Given the description of an element on the screen output the (x, y) to click on. 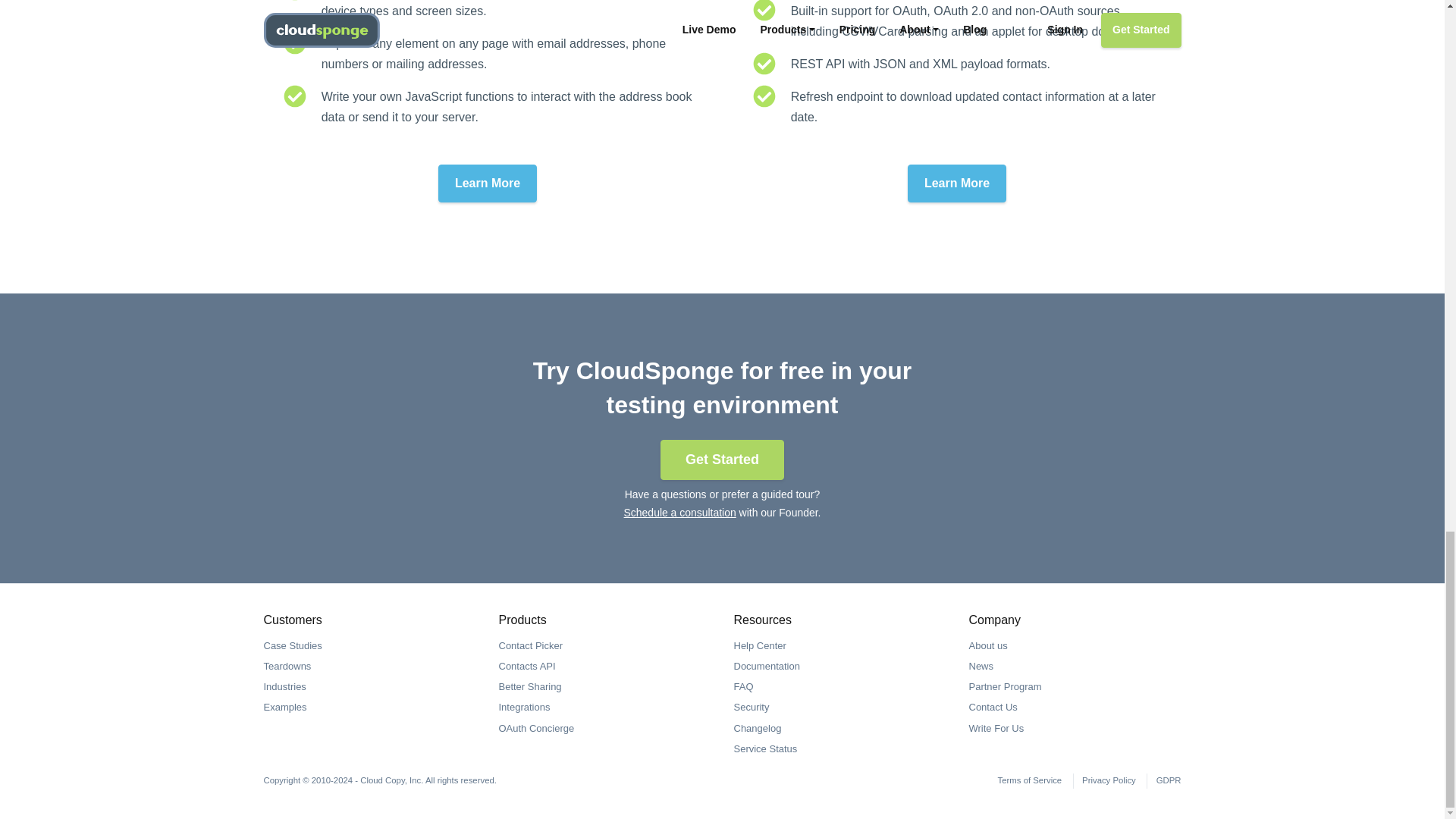
Learn More (956, 183)
Customers (292, 619)
Get Started (722, 459)
Learn More (487, 183)
Schedule a consultation (680, 512)
